Given the description of an element on the screen output the (x, y) to click on. 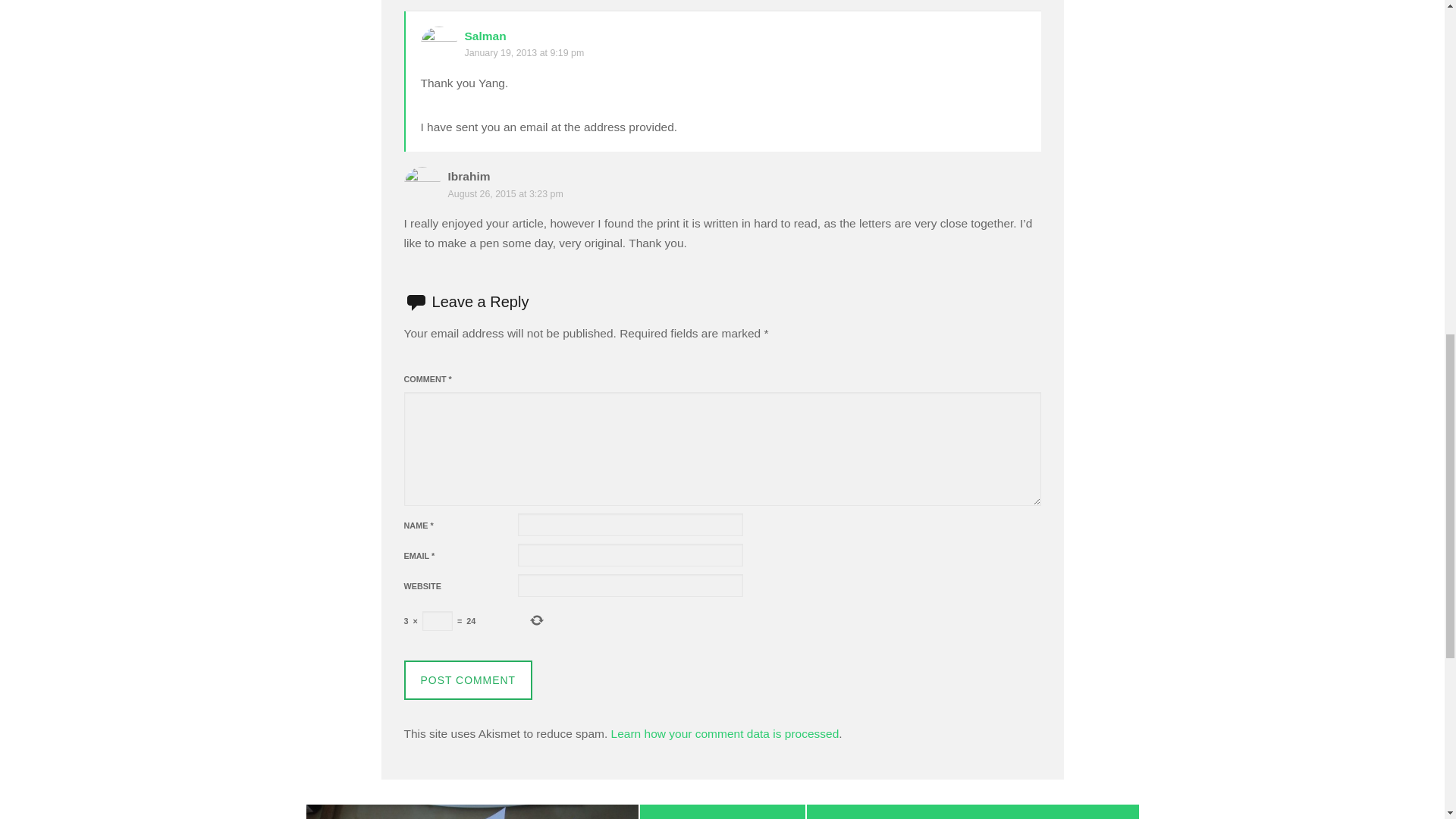
Salman (484, 35)
Post Comment (467, 680)
August 26, 2015 at 3:23 pm (504, 194)
Post Comment (467, 680)
Learn how your comment data is processed (725, 733)
January 19, 2013 at 9:19 pm (523, 52)
